Given the description of an element on the screen output the (x, y) to click on. 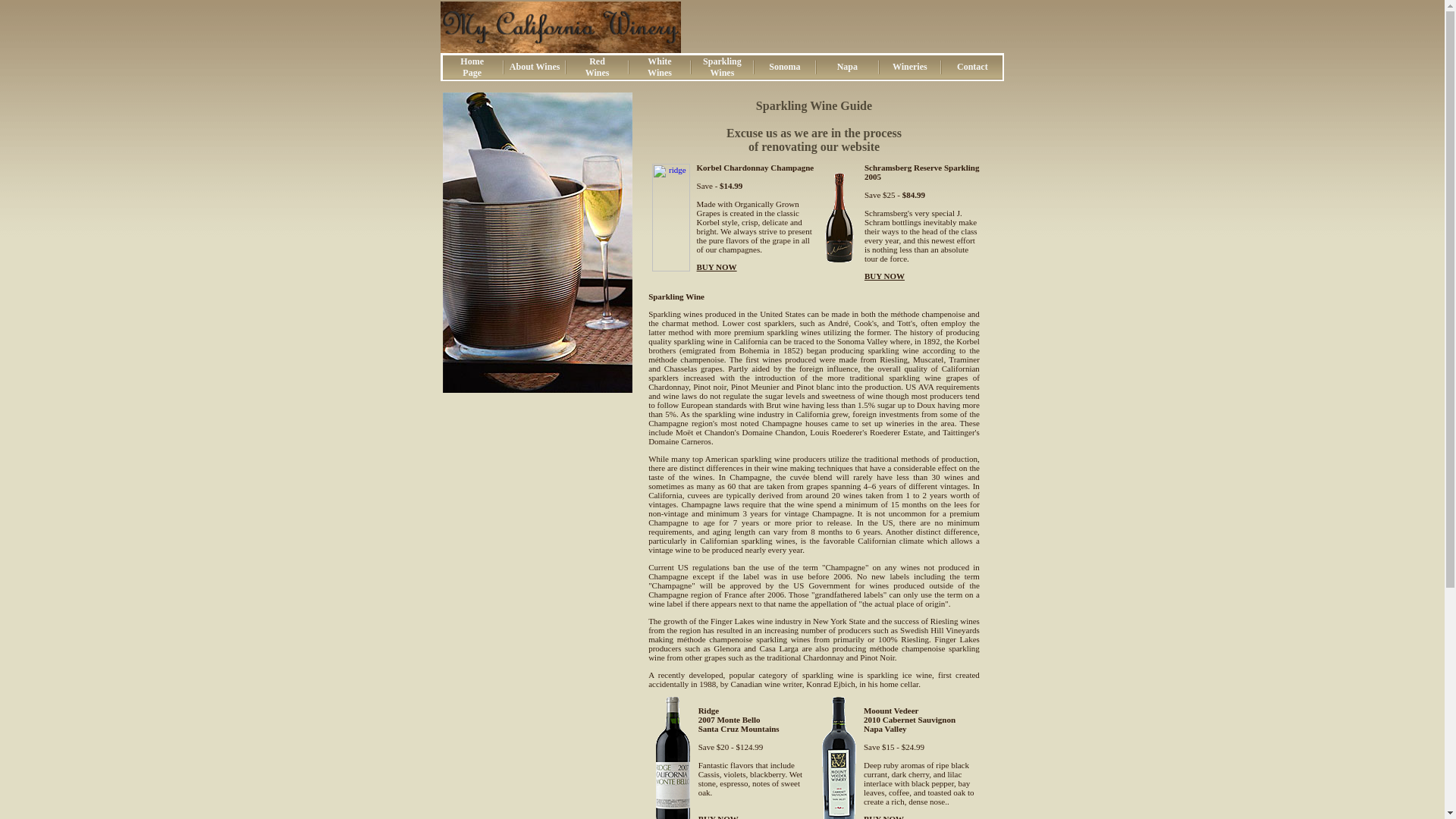
BUY NOW (718, 816)
Contact (972, 66)
About Wines (471, 66)
Sonoma (534, 66)
Wineries (783, 66)
Napa (909, 66)
BUY NOW (659, 66)
BUY NOW (597, 66)
BUY NOW (847, 66)
